Given the description of an element on the screen output the (x, y) to click on. 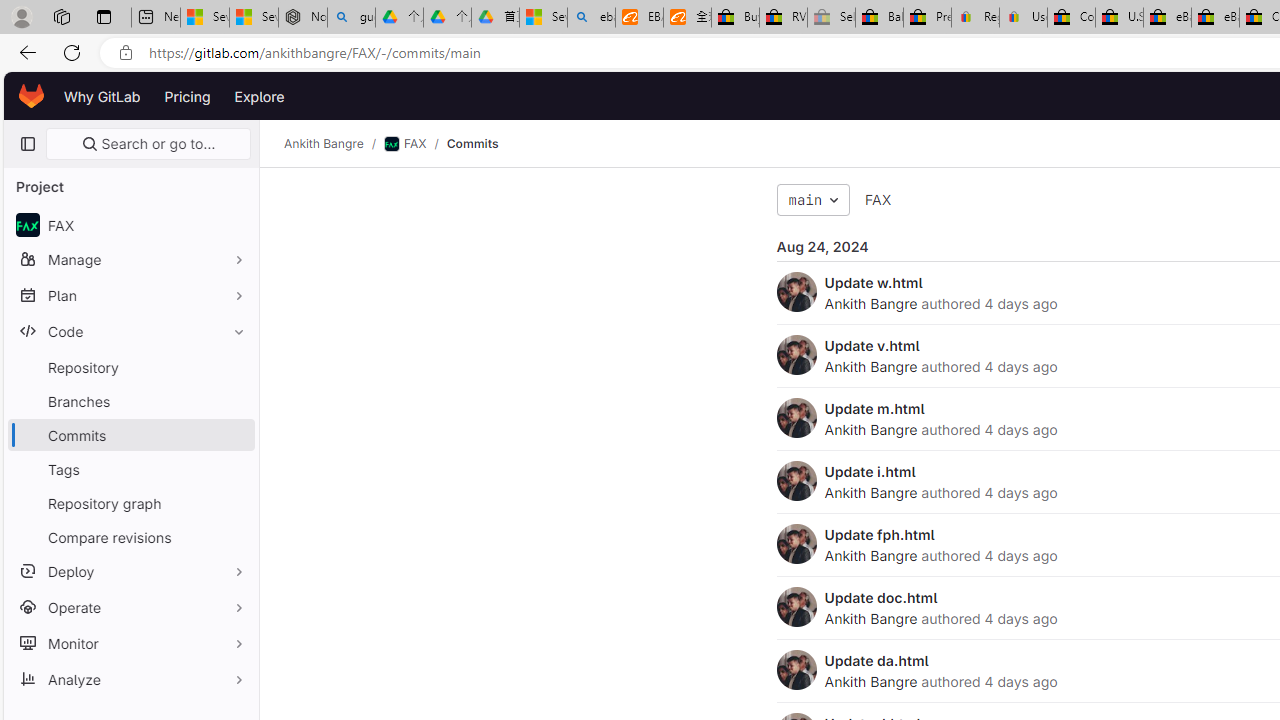
Branches (130, 400)
Analyze (130, 678)
Deploy (130, 570)
FAX/ (414, 143)
Register: Create a personal eBay account (975, 17)
Commits (472, 143)
FAX (878, 200)
RV, Trailer & Camper Steps & Ladders for sale | eBay (783, 17)
FAX (878, 199)
Update da.html (876, 660)
Why GitLab (102, 95)
guge yunpan - Search (351, 17)
